Given the description of an element on the screen output the (x, y) to click on. 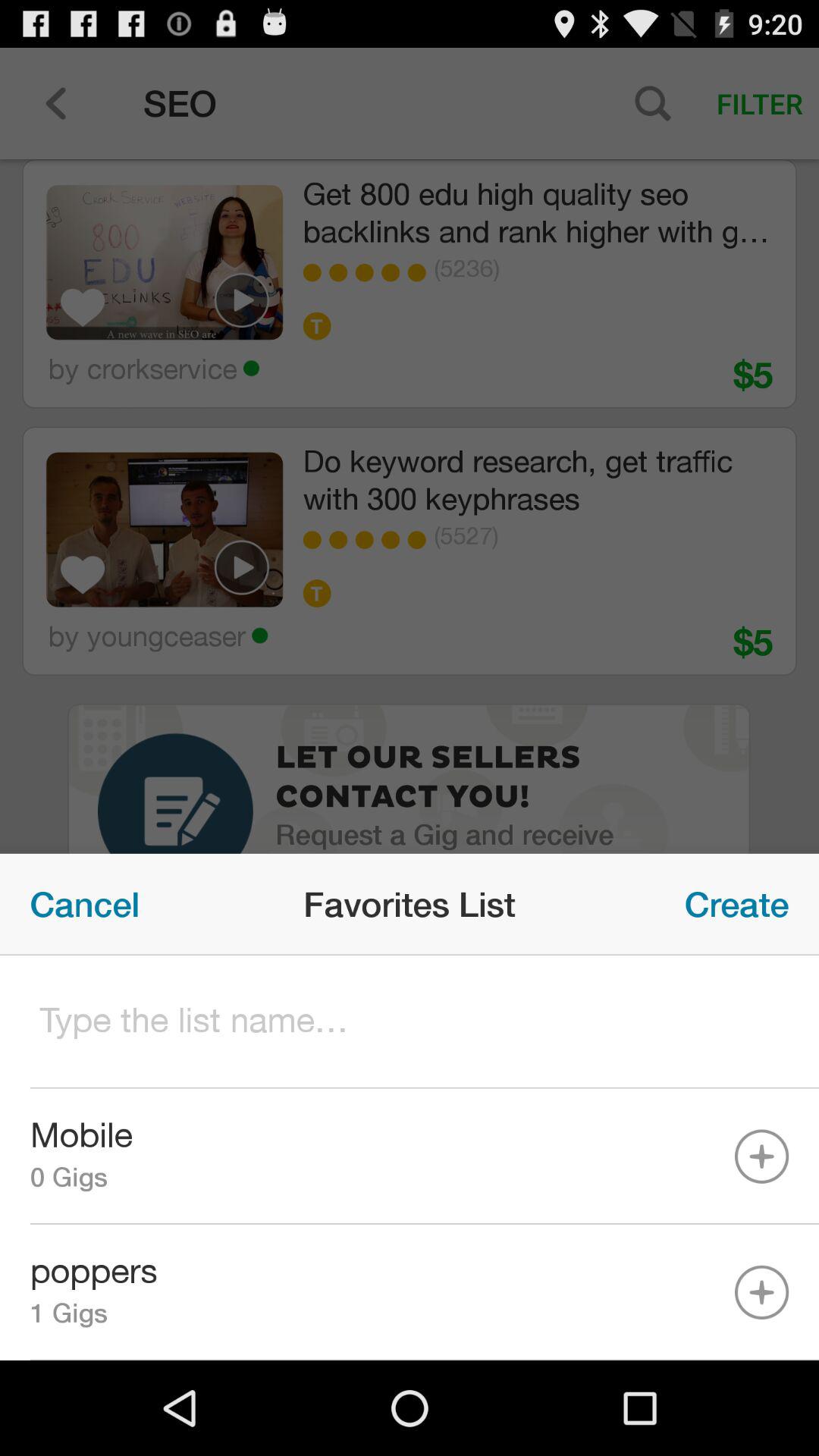
list title input box (409, 1021)
